Given the description of an element on the screen output the (x, y) to click on. 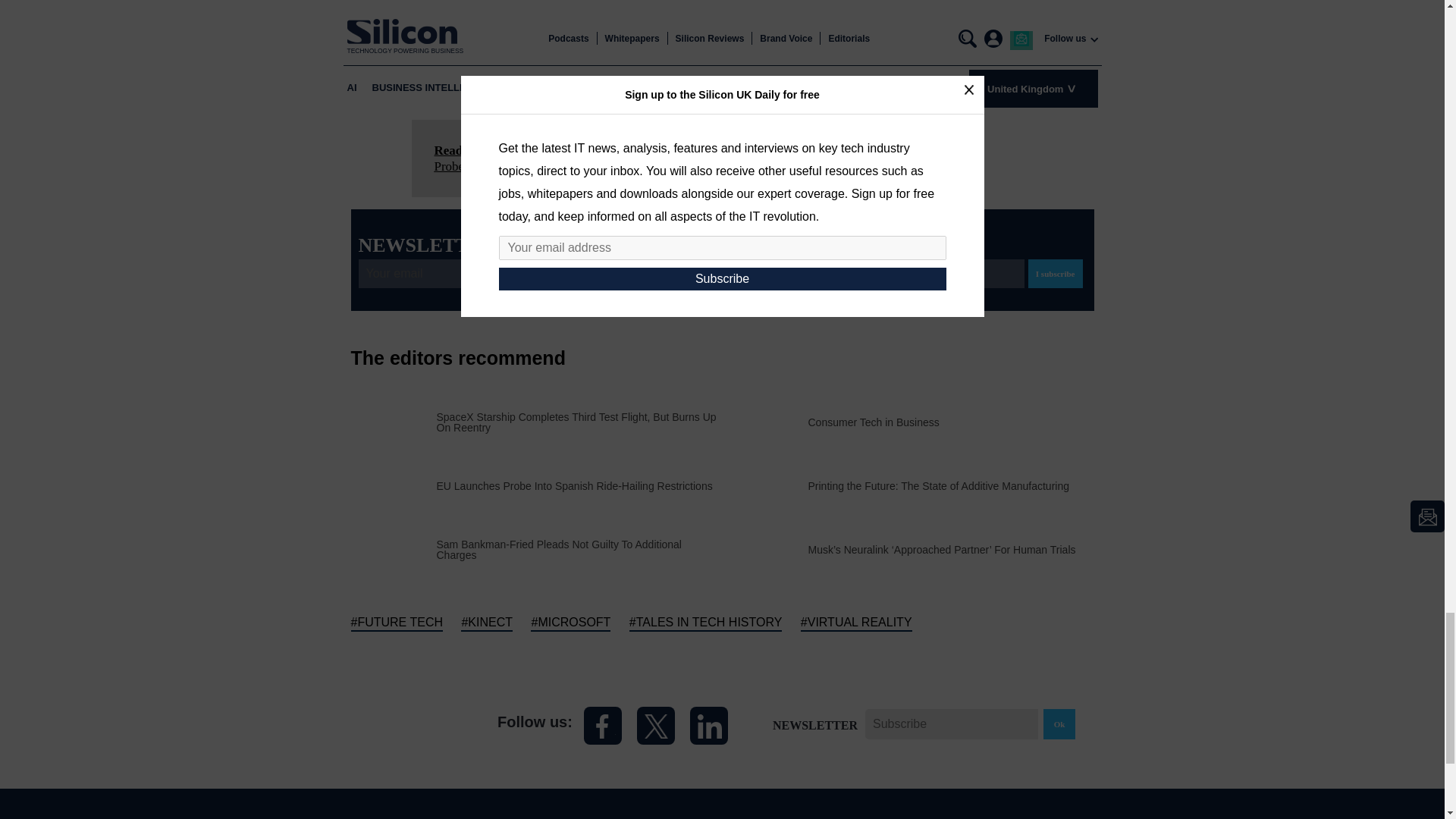
Consumer Tech in Business (873, 421)
Sam Bankman-Fried Pleads Not Guilty To Additional Charges (579, 549)
522767Tales In Tech History: Microsoft Kinect (393, 484)
554778Tales In Tech History: Microsoft Kinect (393, 420)
504455Tales In Tech History: Microsoft Kinect (393, 548)
546148Tales In Tech History: Microsoft Kinect (764, 420)
EU Launches Probe Into Spanish Ride-Hailing Restrictions (574, 485)
Printing the Future: The State of Additive Manufacturing (939, 485)
519489Tales In Tech History: Microsoft Kinect (764, 484)
503466Tales In Tech History: Microsoft Kinect (764, 548)
